Given the description of an element on the screen output the (x, y) to click on. 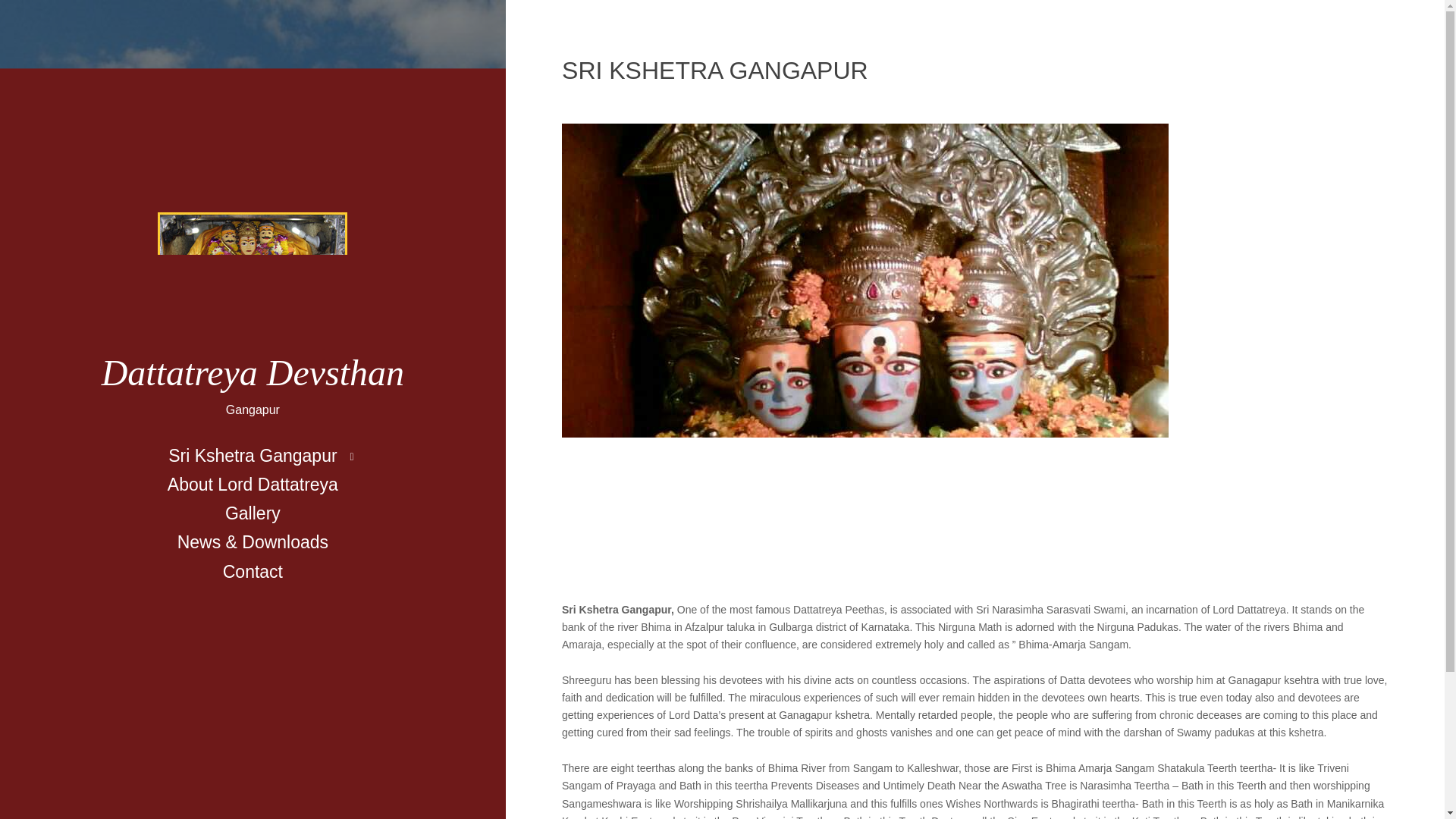
Sri Kshetra Gangapur (252, 455)
Gallery (252, 512)
Contact (253, 571)
Dattatreya Devsthan (252, 372)
About Lord Dattatreya (252, 484)
